Given the description of an element on the screen output the (x, y) to click on. 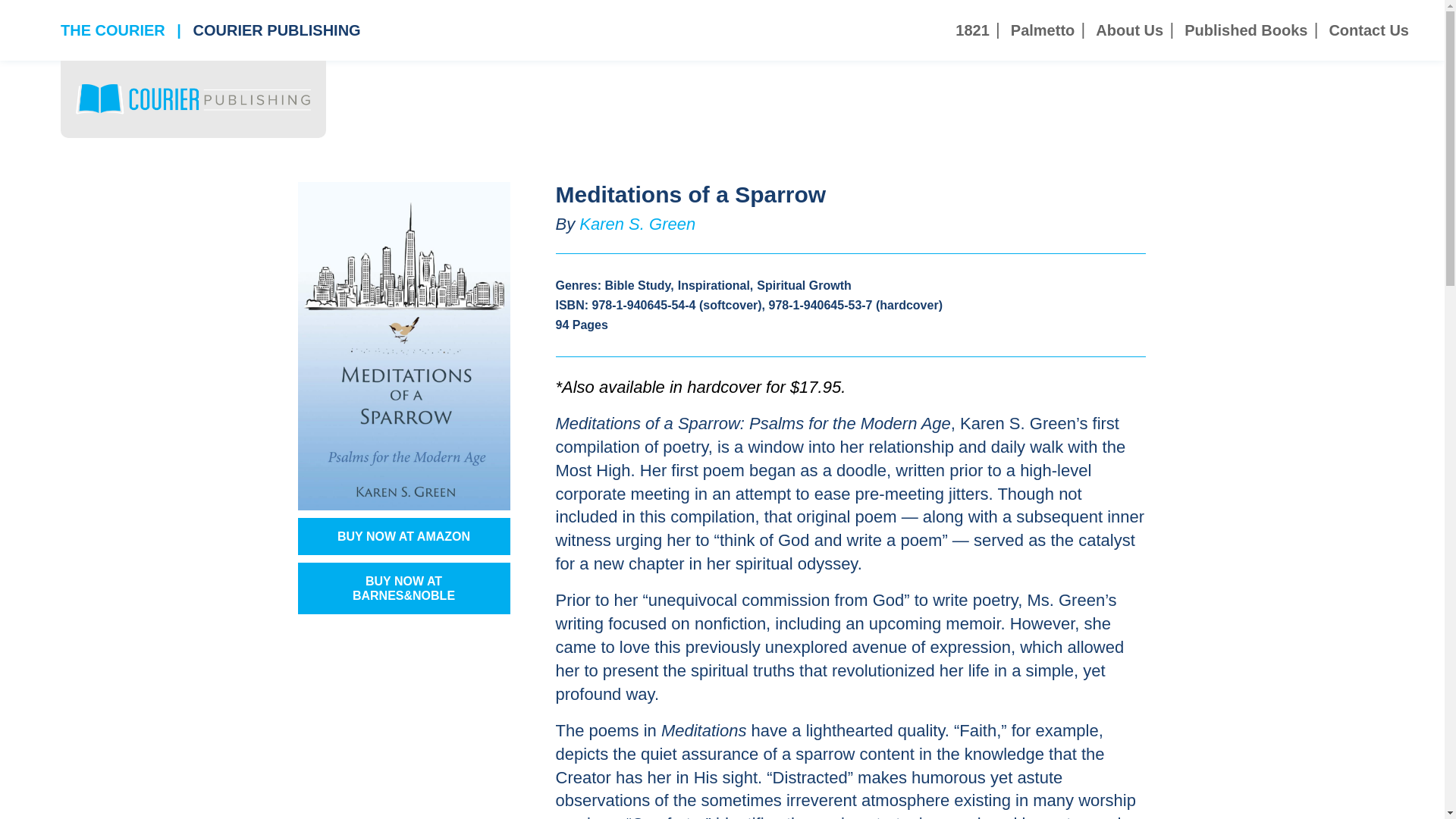
Inspirational (713, 285)
Spiritual Growth (803, 285)
Published Books (1246, 30)
Contact Us (1368, 30)
BUY NOW AT AMAZON (403, 536)
About Us (1129, 30)
Palmetto (1043, 30)
Bible Study (636, 285)
Karen S. Green (637, 223)
